Given the description of an element on the screen output the (x, y) to click on. 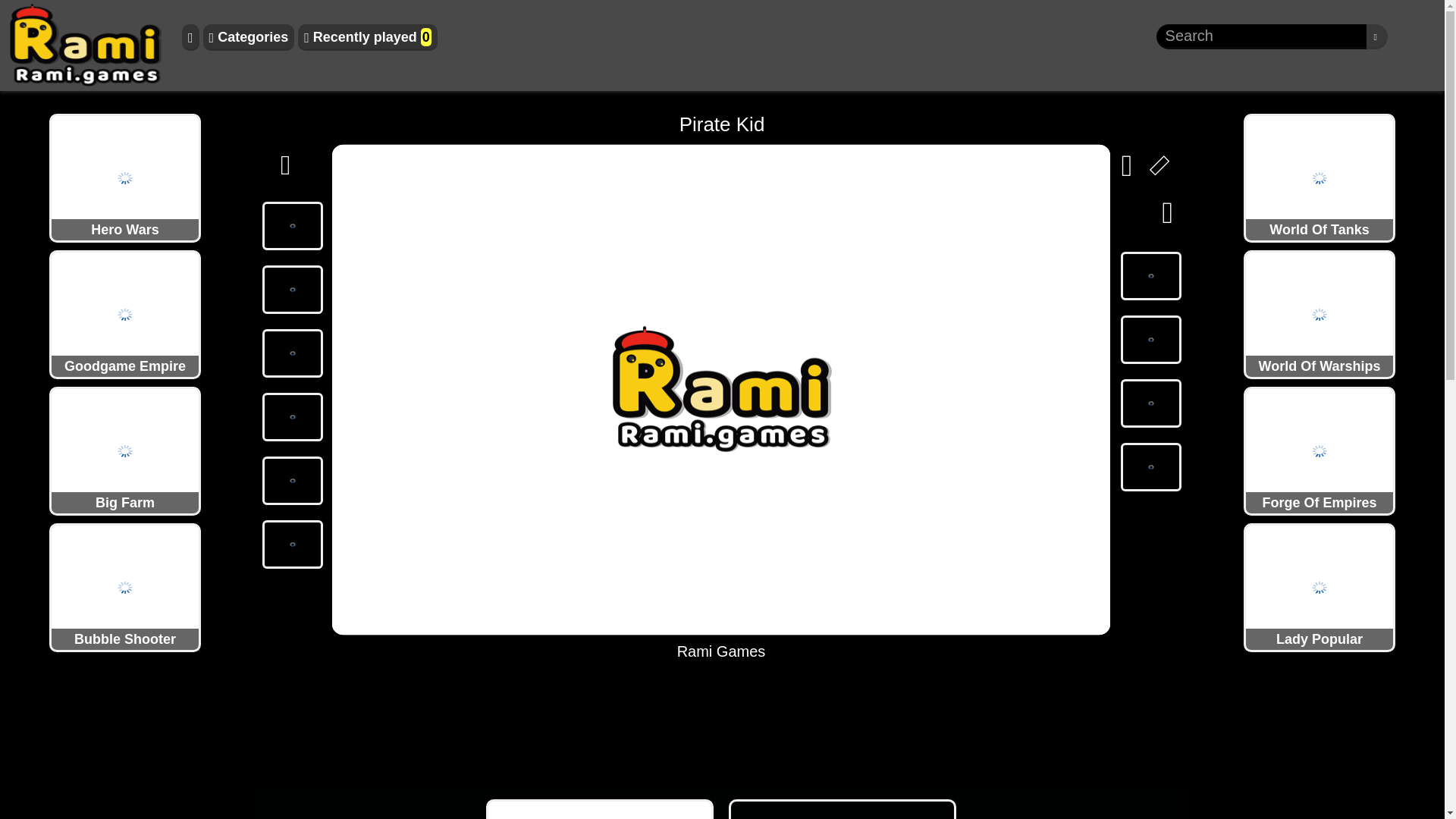
Big Farm (124, 450)
Lady Popular (1319, 586)
Lady Popular (1319, 586)
Bubble Shooter (124, 586)
Categories (249, 37)
World Of Tanks (1319, 177)
World Of Warships (1319, 313)
Goodgame Empire (124, 313)
Forge Of Empires (1319, 450)
Hero Wars (124, 177)
Recently played 0 (368, 37)
Goodgame Empire (124, 313)
Big Farm (124, 450)
Bubble Shooter (124, 586)
Forge Of Empires (1319, 450)
